Given the description of an element on the screen output the (x, y) to click on. 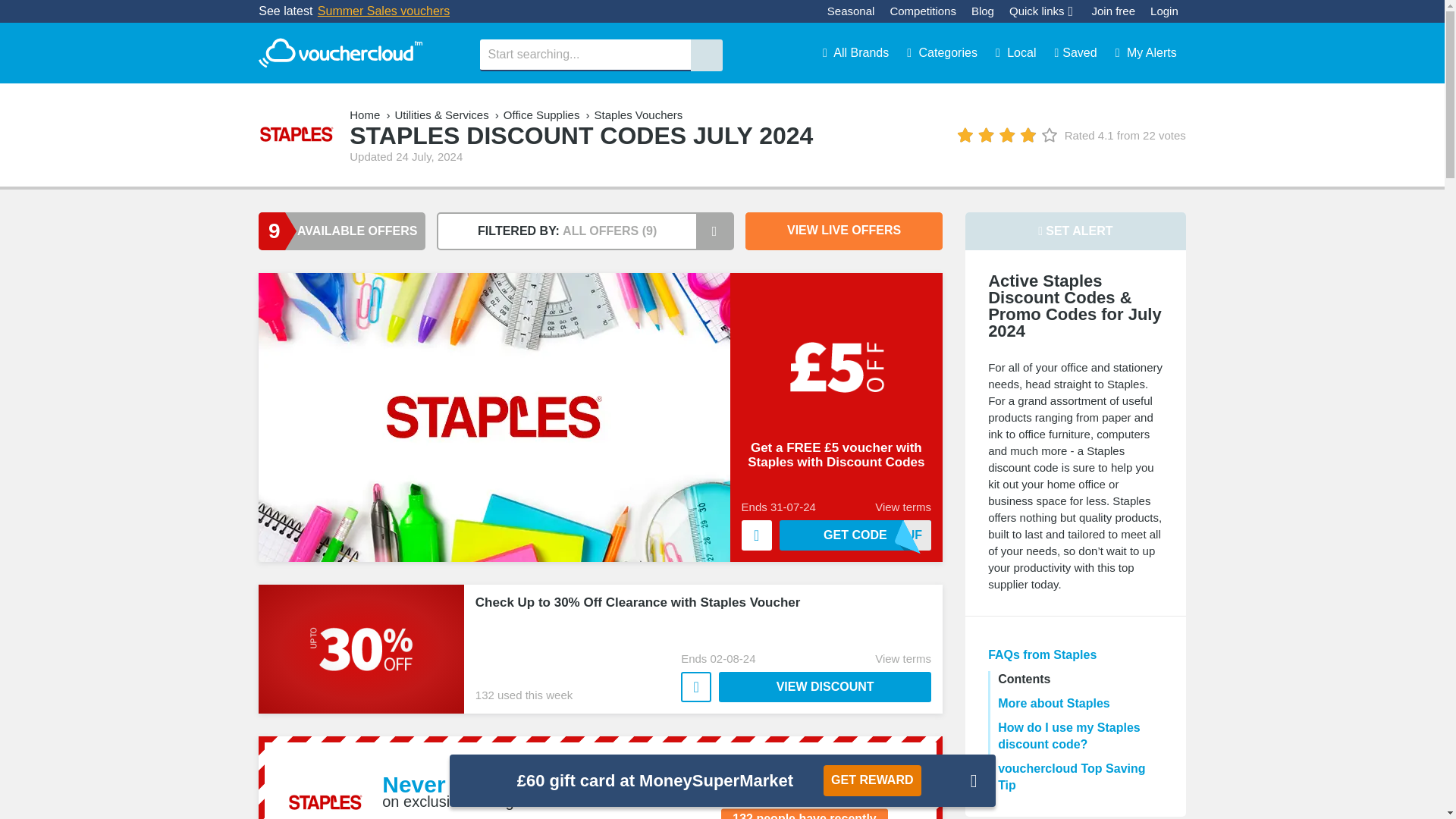
vouchercloud (340, 52)
SEARCH (706, 55)
